Given the description of an element on the screen output the (x, y) to click on. 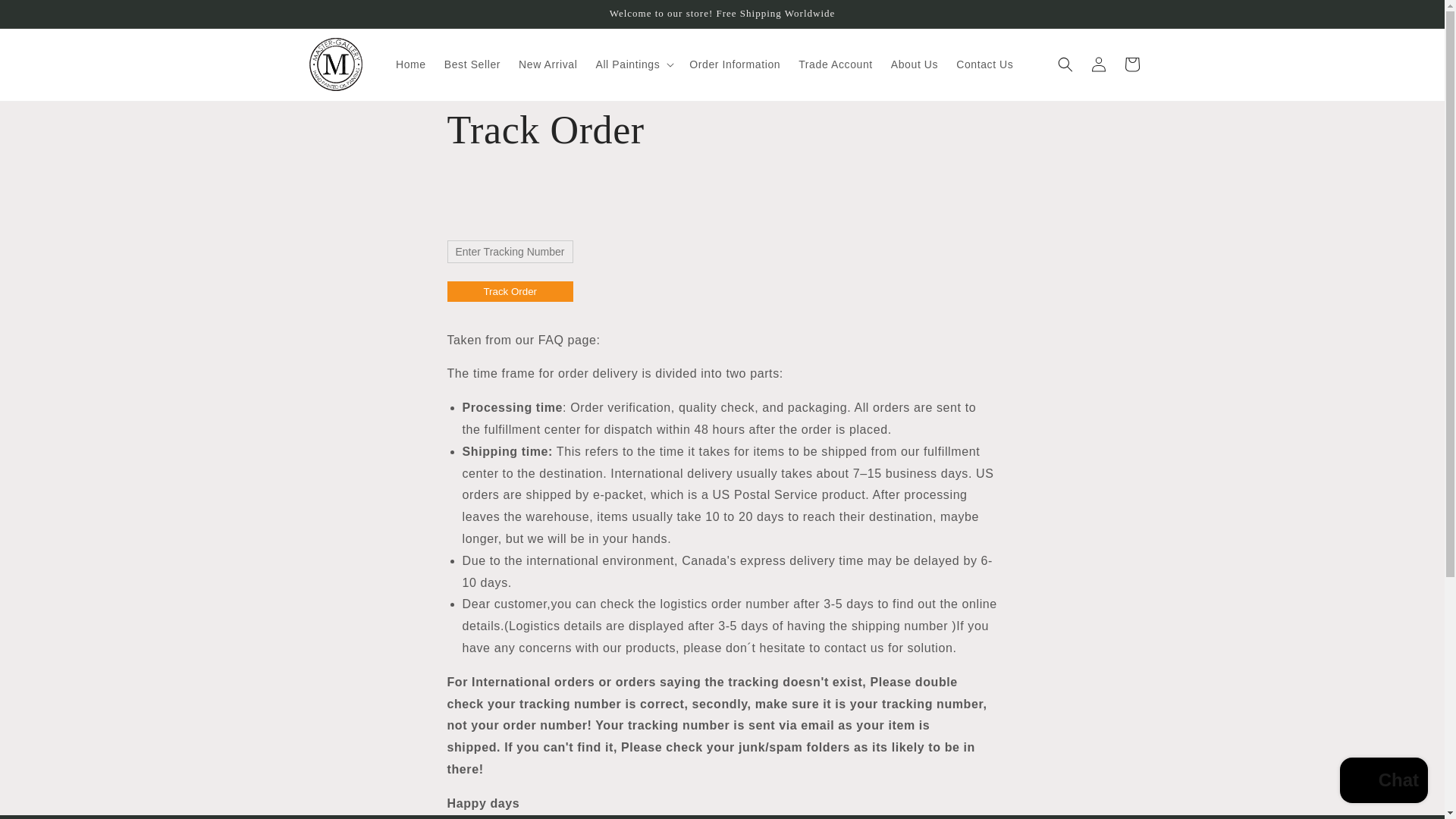
Cart (1131, 64)
Track Order (509, 291)
Log in (1098, 64)
Skip to content (45, 17)
Shopify online store chat (1383, 781)
Trade Account (835, 64)
New Arrival (547, 64)
Best Seller (472, 64)
About Us (914, 64)
Contact Us (984, 64)
